Given the description of an element on the screen output the (x, y) to click on. 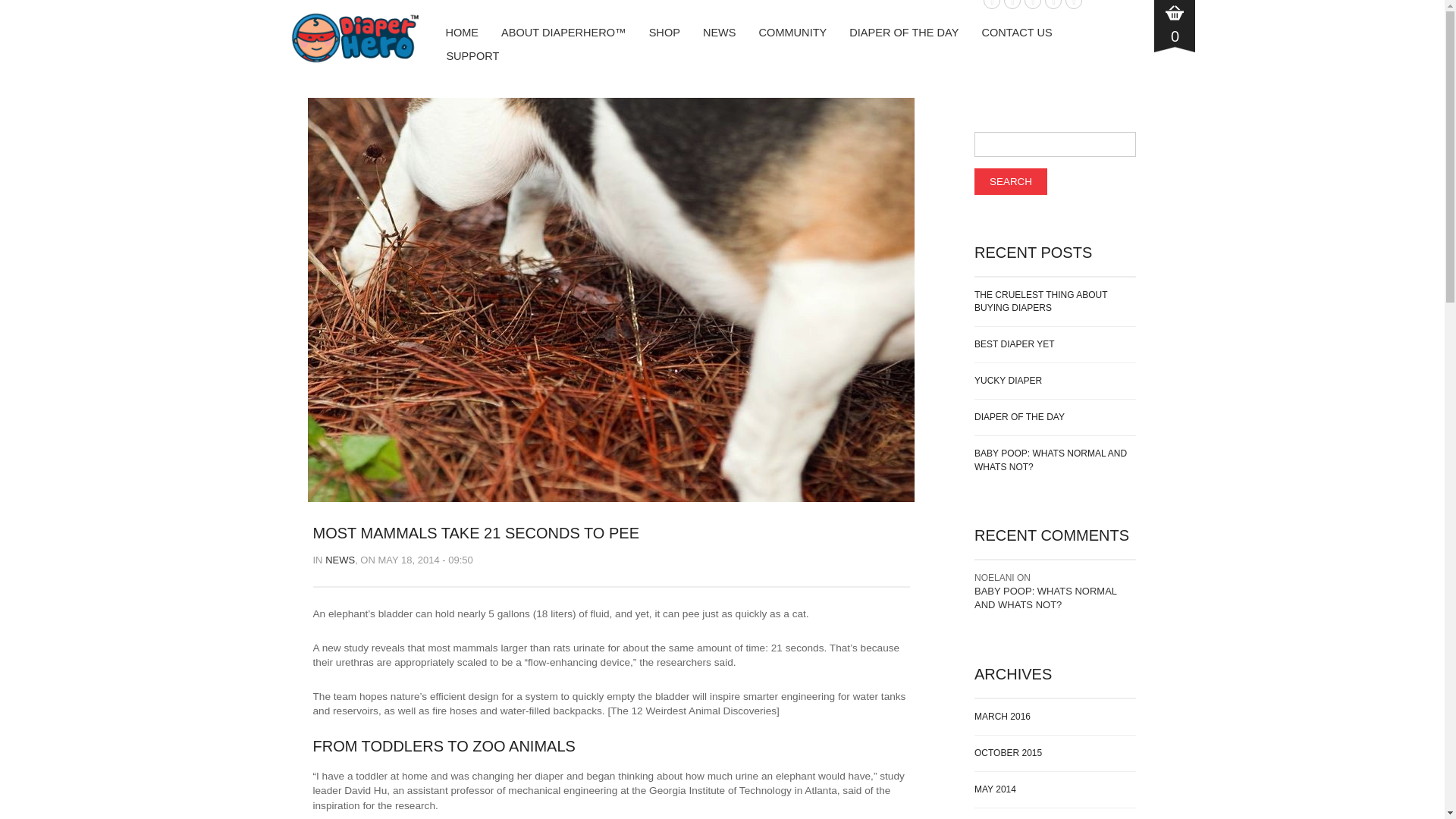
Search (1010, 181)
